Given the description of an element on the screen output the (x, y) to click on. 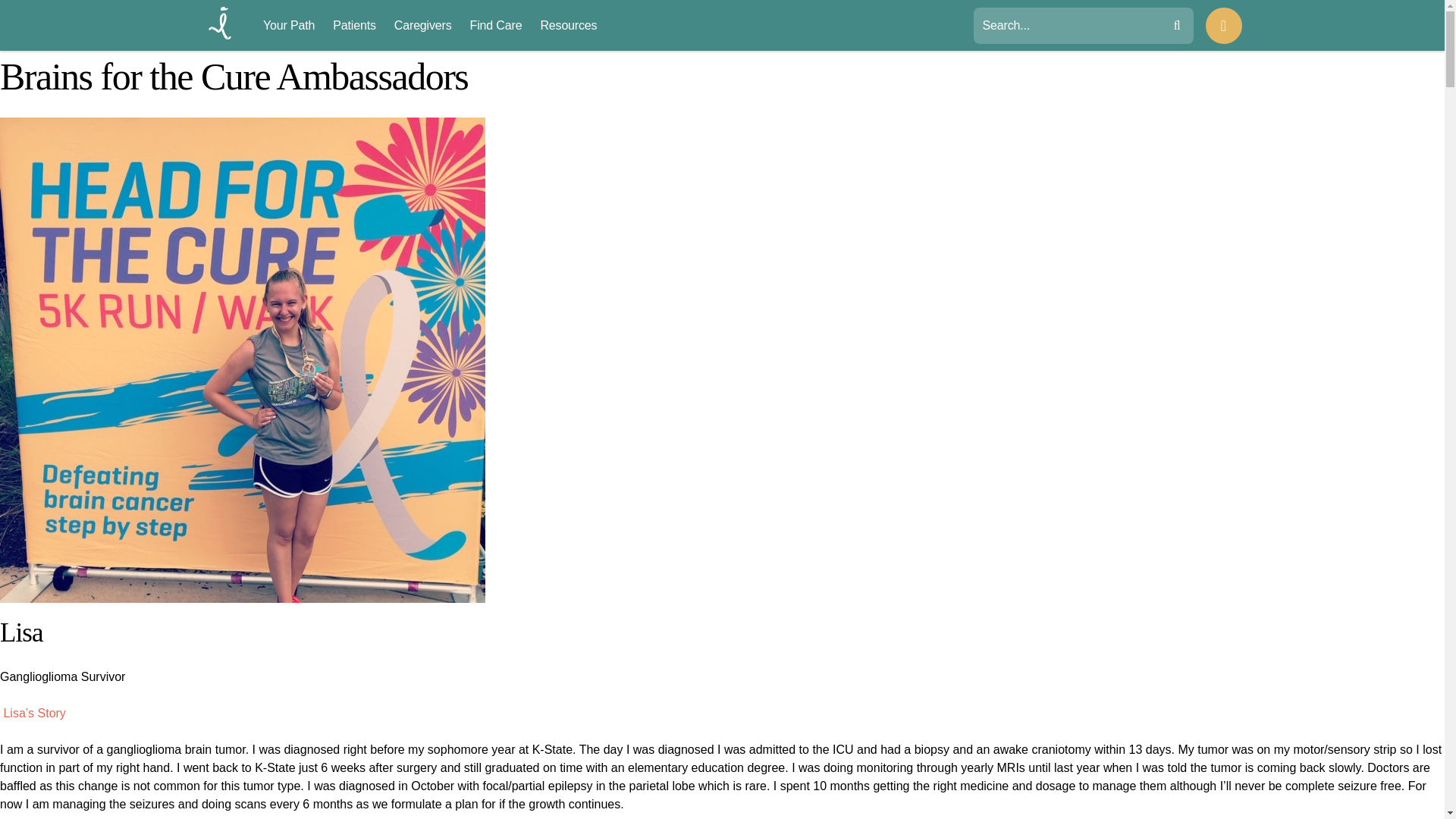
Resources (568, 25)
Your Path (288, 25)
Resources (568, 25)
Patients (354, 25)
Patients (354, 25)
Caregivers (422, 25)
Find Care (496, 25)
Find Care (496, 25)
Search Site (1061, 25)
Caregivers (422, 25)
Your Path (288, 25)
